Given the description of an element on the screen output the (x, y) to click on. 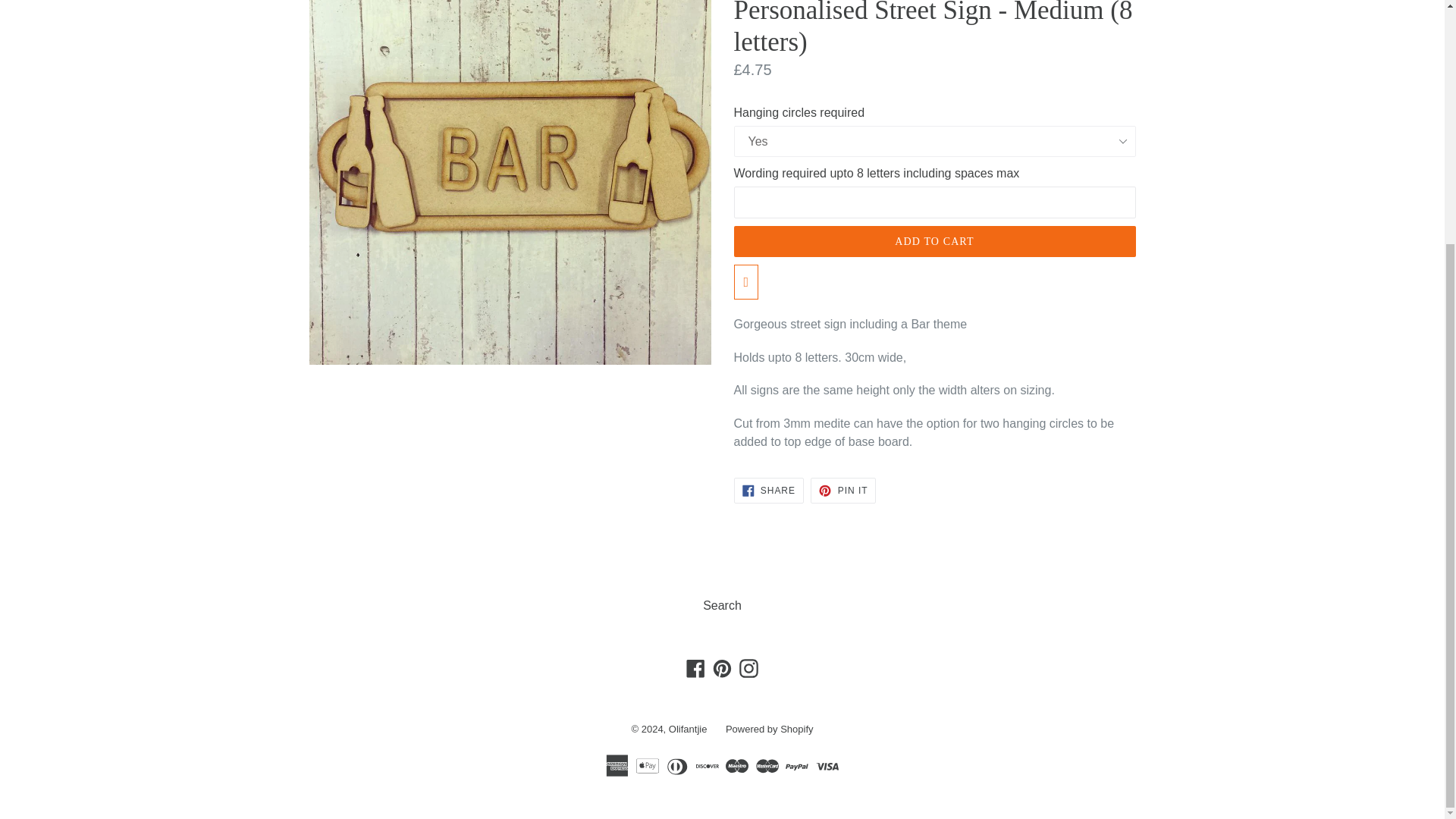
Olifantjie on Facebook (695, 668)
Olifantjie on Pinterest (721, 668)
Pin on Pinterest (843, 490)
Olifantjie on Instagram (748, 668)
Share on Facebook (768, 490)
